Given the description of an element on the screen output the (x, y) to click on. 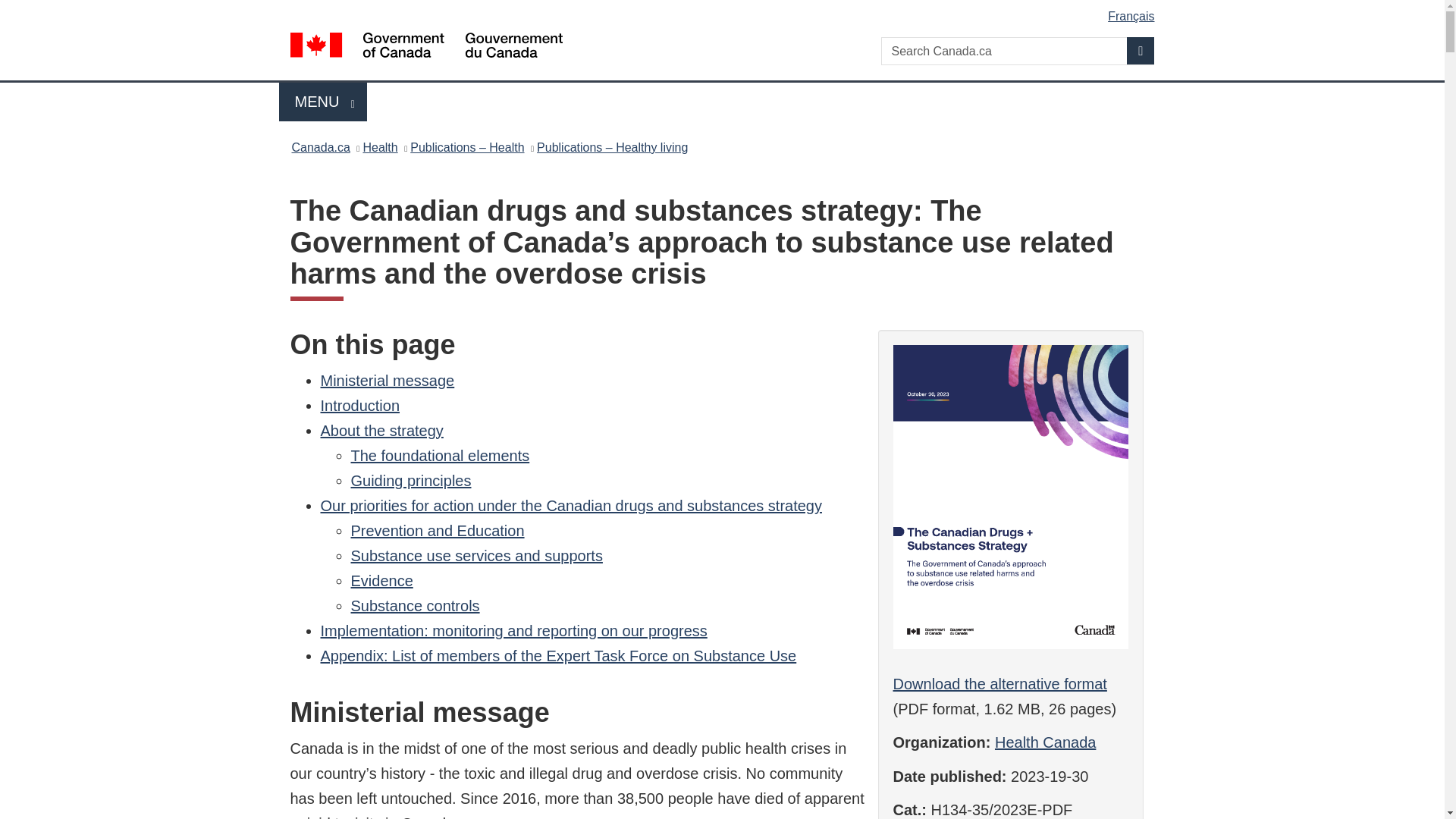
Substance controls (414, 605)
The foundational elements (439, 455)
About the strategy (381, 430)
Substance use services and supports (476, 555)
Implementation: monitoring and reporting on our progress (513, 630)
Introduction (322, 101)
Canada.ca (359, 405)
Prevention and Education (320, 147)
Ministerial message (437, 530)
Download the alternative format (387, 380)
Skip to main content (999, 683)
Health (725, 11)
Evidence (379, 147)
